Given the description of an element on the screen output the (x, y) to click on. 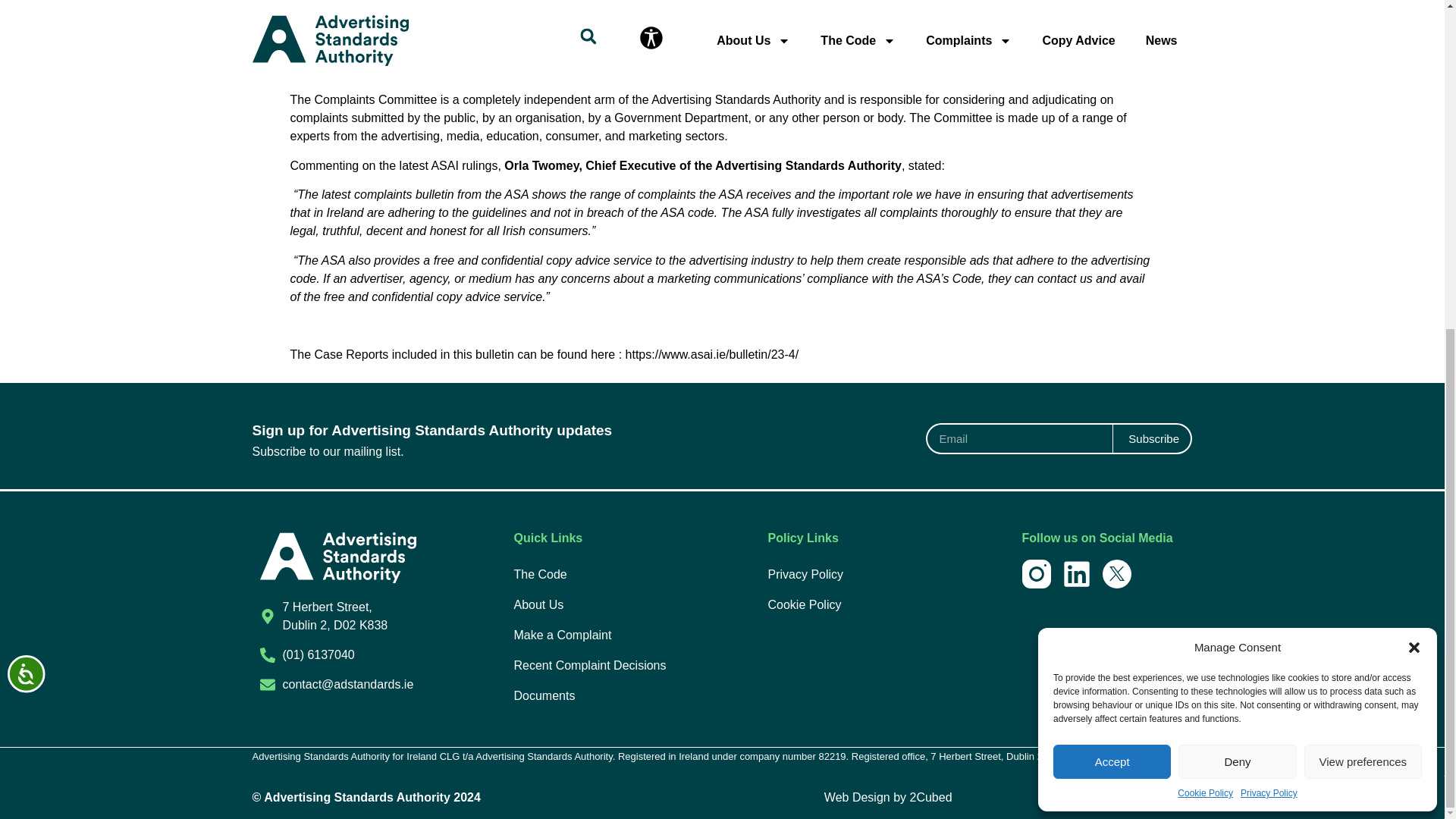
Cookie Policy (1205, 248)
View preferences (1363, 216)
Accept (1111, 216)
Deny (1236, 216)
Privacy Policy (1268, 248)
Accessibility (41, 144)
